Given the description of an element on the screen output the (x, y) to click on. 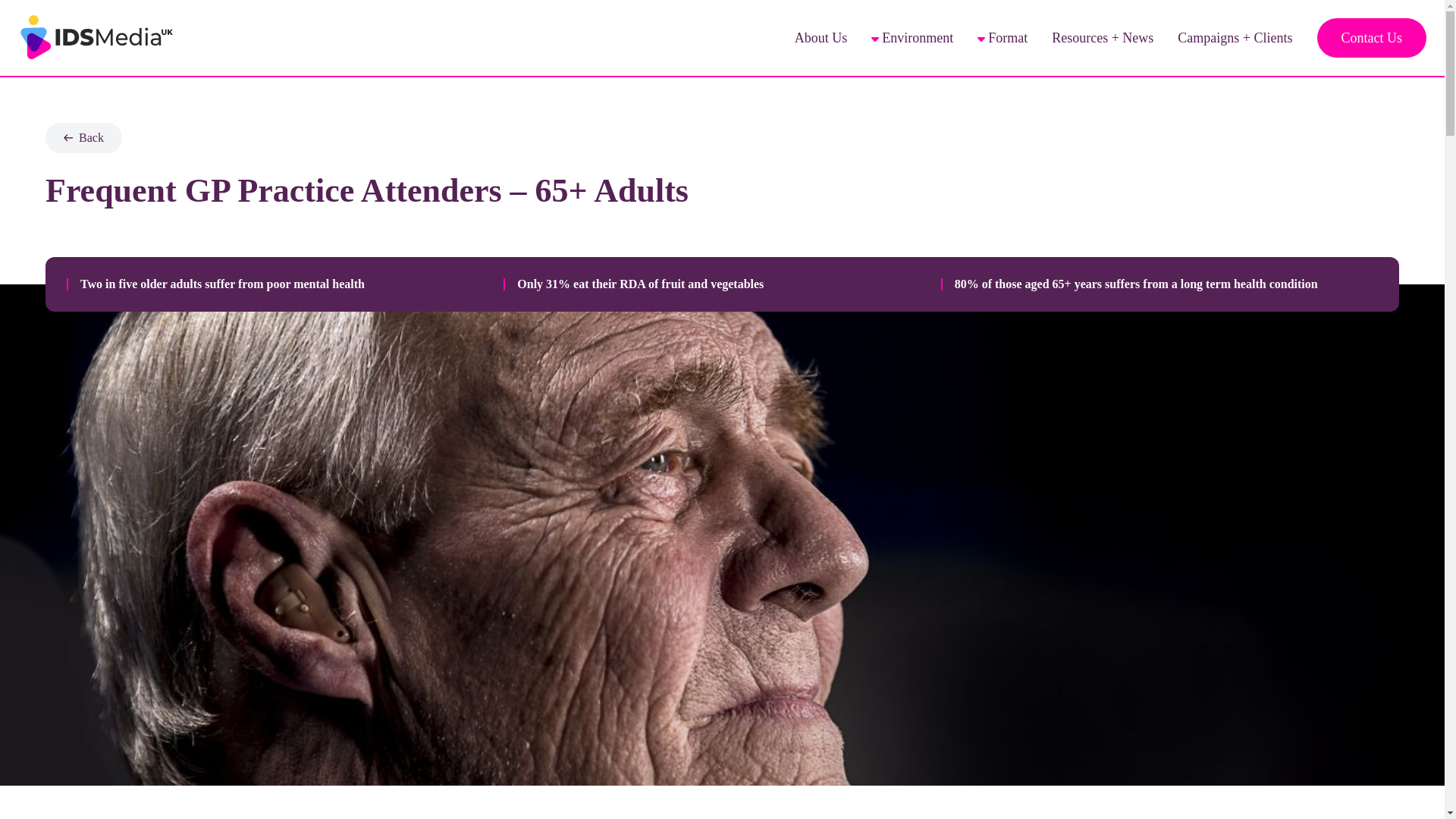
Contact Us (1371, 37)
Environment (911, 37)
About Us (820, 37)
Back (83, 137)
Format (1001, 37)
